Given the description of an element on the screen output the (x, y) to click on. 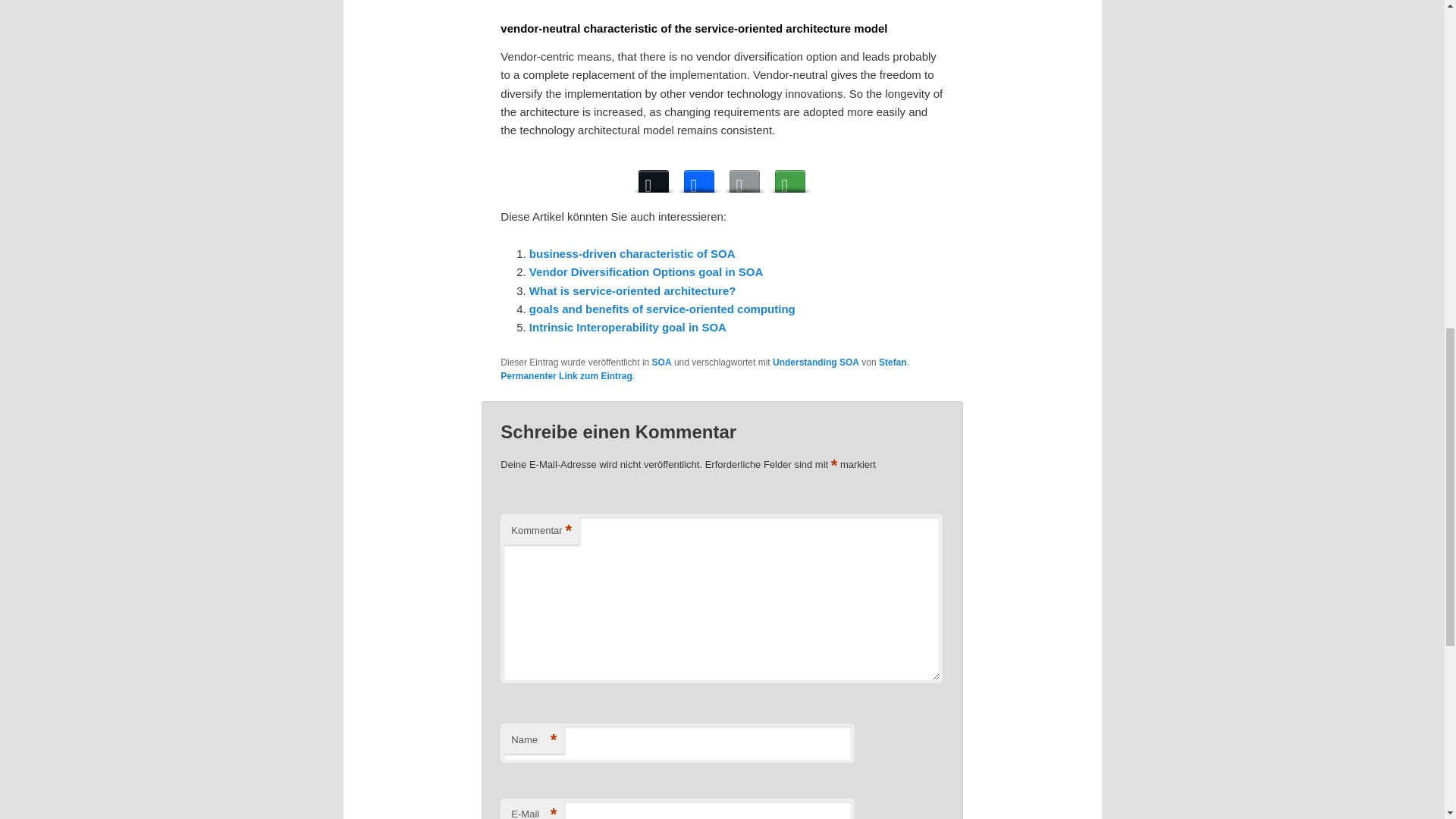
business-driven characteristic of SOA (632, 253)
goals and benefits of service-oriented computing (661, 308)
SOA (661, 362)
Facebook (699, 177)
Permalink zu vendor-neutral characteristic of SOA (565, 376)
business-driven characteristic of SOA (632, 253)
What is service-oriented architecture? (632, 290)
Permanenter Link zum Eintrag (565, 376)
Stefan (893, 362)
Intrinsic Interoperability goal in SOA (627, 327)
